Given the description of an element on the screen output the (x, y) to click on. 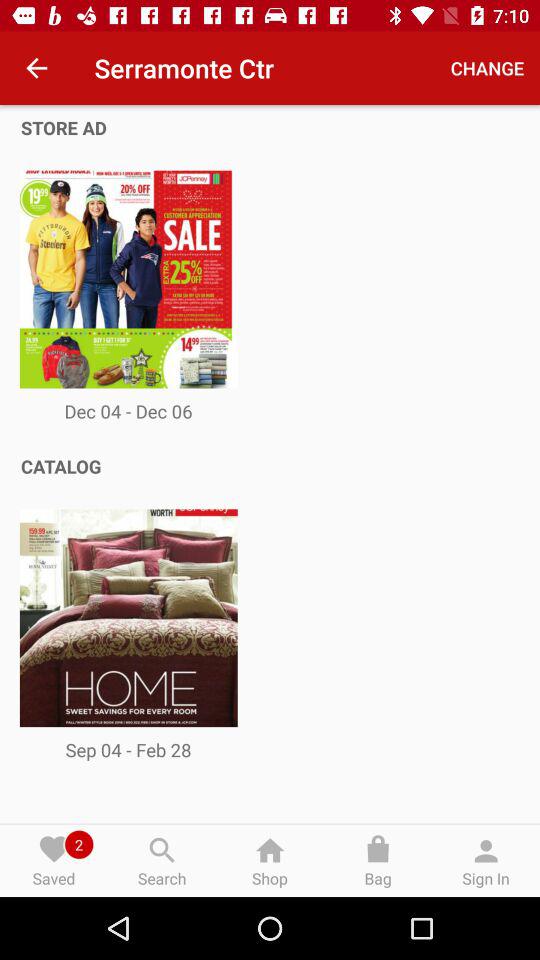
select the first image (128, 279)
select the image below the catalog (128, 617)
click on the button change at top right (487, 68)
select the option bag at left of sign in (378, 860)
